Given the description of an element on the screen output the (x, y) to click on. 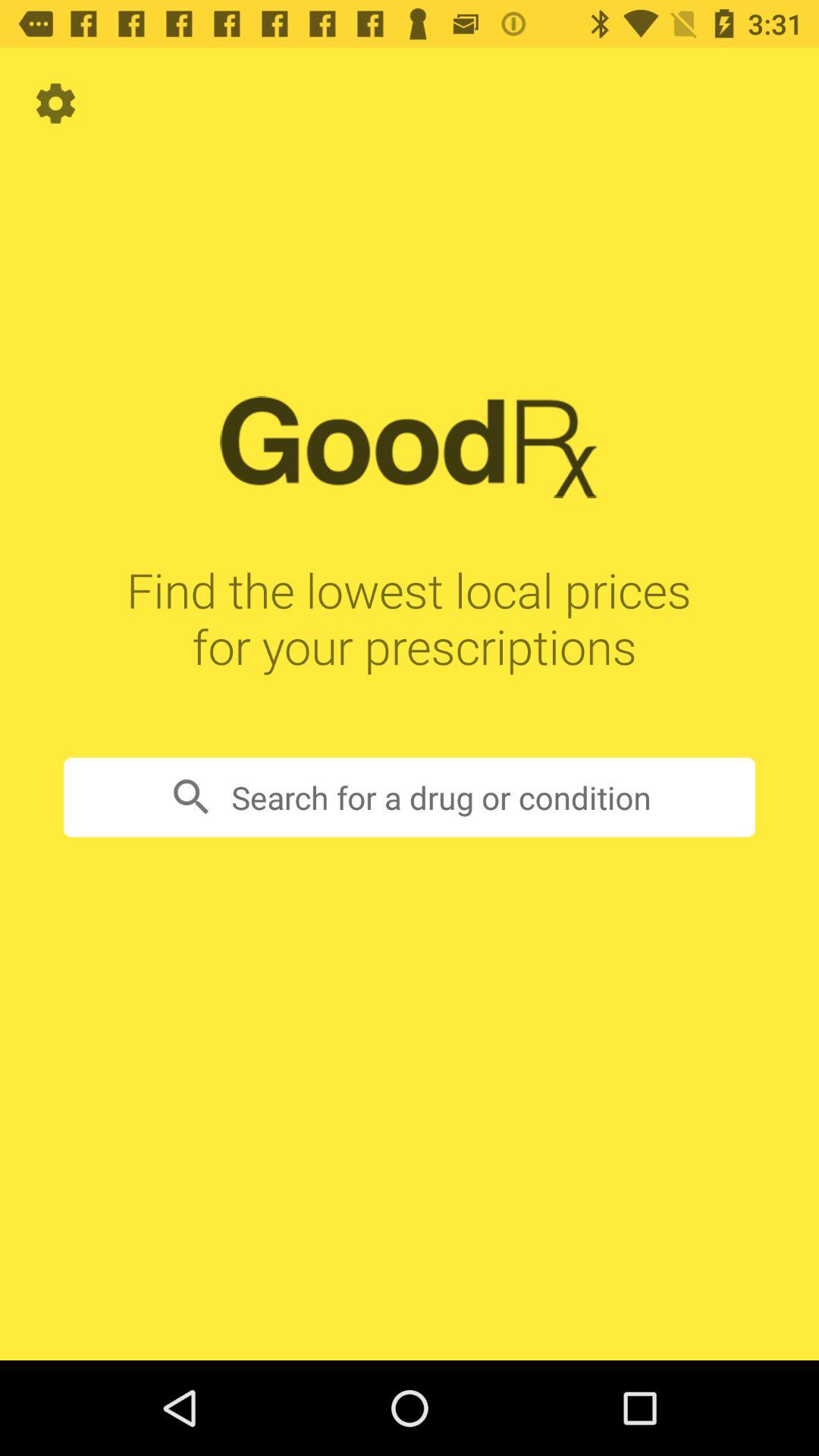
press item at the top left corner (55, 103)
